Given the description of an element on the screen output the (x, y) to click on. 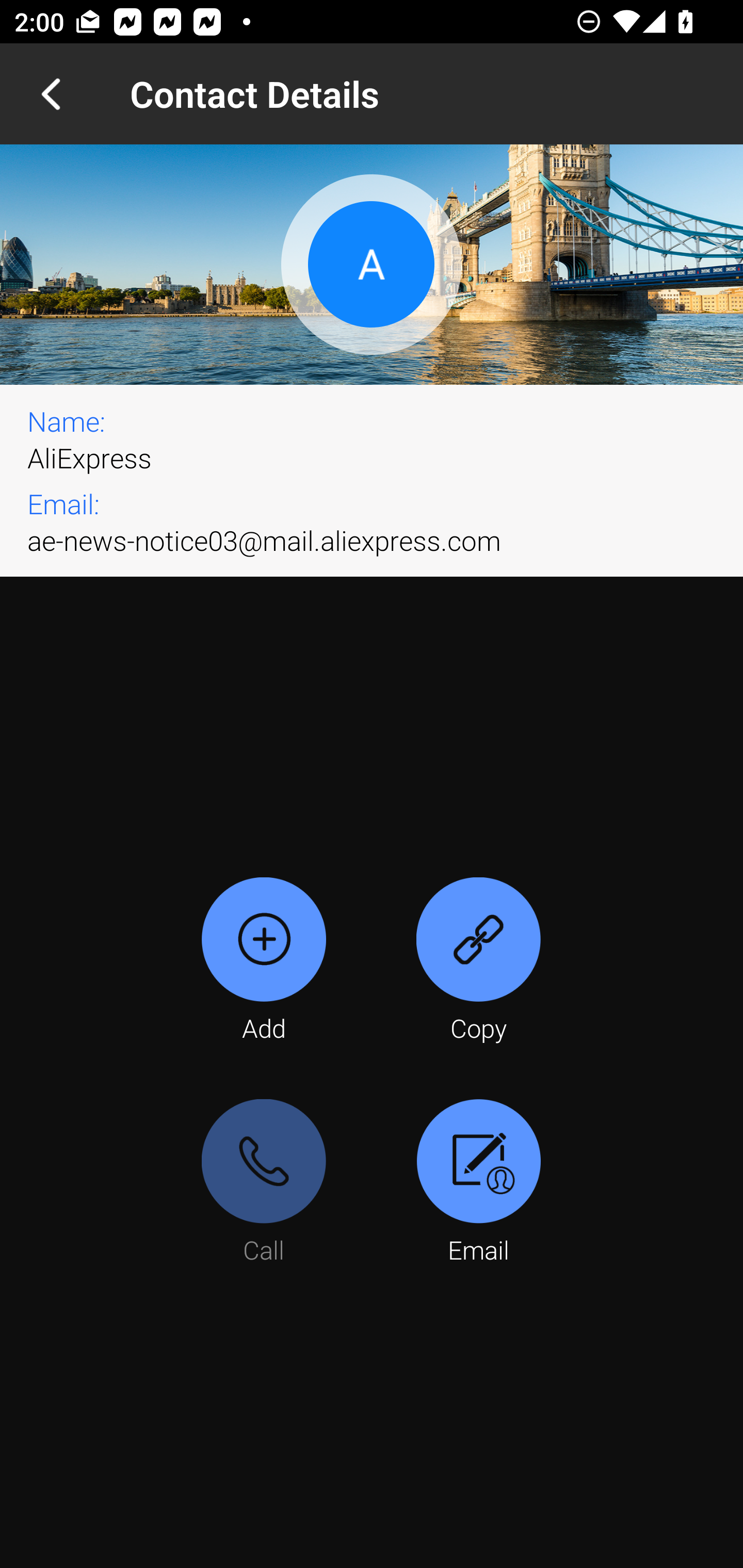
Navigate up (50, 93)
Add (264, 961)
Copy (478, 961)
Call (264, 1182)
Email (478, 1182)
